Given the description of an element on the screen output the (x, y) to click on. 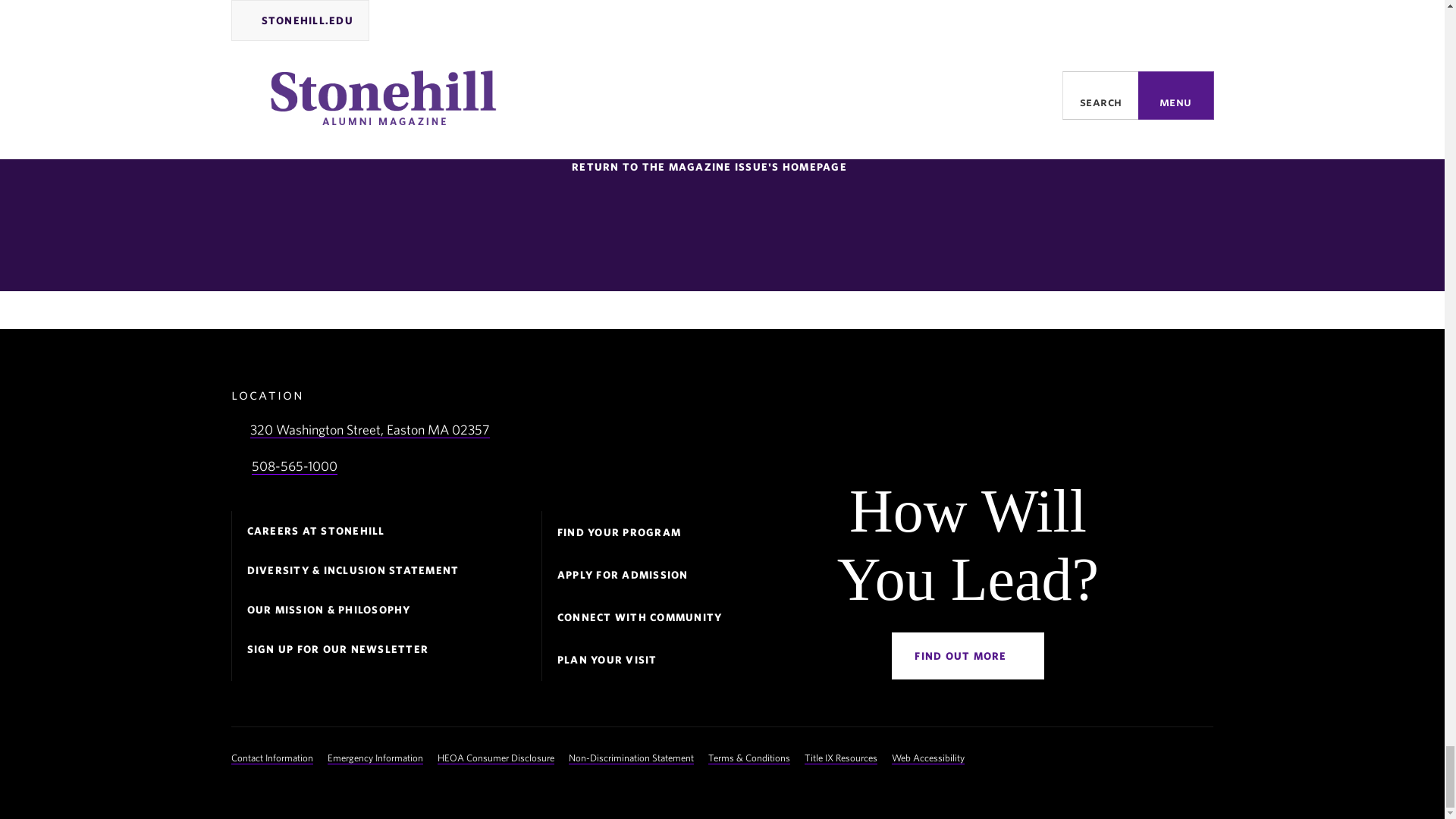
RETURN TO THE MAGAZINE ISSUE'S HOMEPAGE (716, 166)
320 Washington Street, Easton MA 02357 (369, 429)
PLAN YOUR VISIT (607, 659)
FIND YOUR PROGRAM (619, 532)
CONTACT THE MAGAZINE EDITOR (579, 130)
Emergency Information (375, 758)
CAREERS AT STONEHILL (316, 530)
FIND OUT MORE (967, 655)
Title IX Resources (841, 758)
Web Accessibility (927, 758)
